Given the description of an element on the screen output the (x, y) to click on. 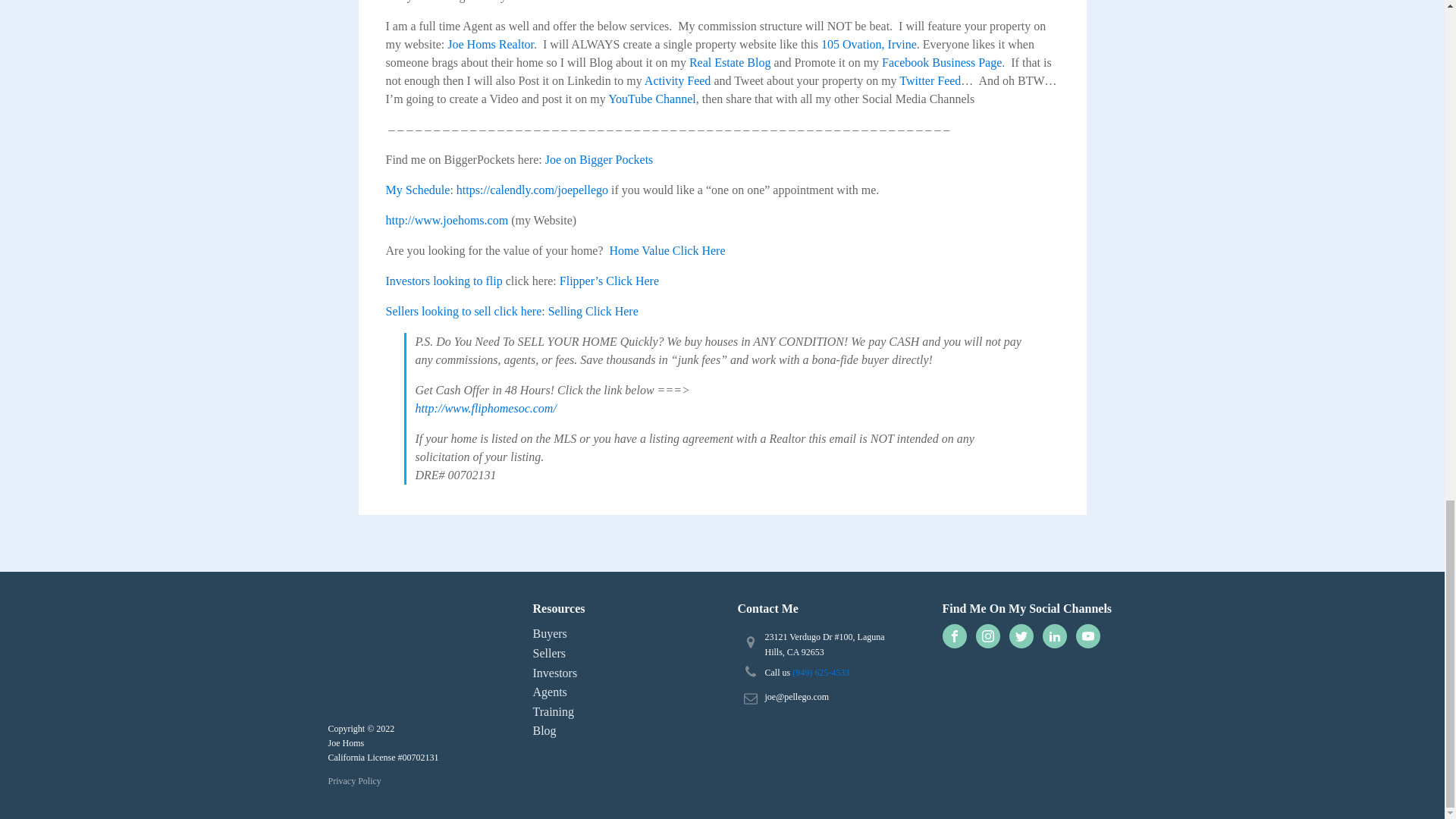
Joe Homs Realtor (490, 43)
Sellers (562, 653)
Joe on Bigger Pockets (598, 159)
My Schedule (417, 189)
Buyers (562, 633)
Sellers looking to sell click here (463, 310)
Activity Feed (678, 80)
Facebook Business Page (941, 62)
Training (562, 711)
Investors (562, 673)
105 Ovation, Irvine (869, 43)
Agents (562, 691)
YouTube Channel (651, 98)
Real Estate Blog (729, 62)
Investors looking to flip (443, 280)
